Given the description of an element on the screen output the (x, y) to click on. 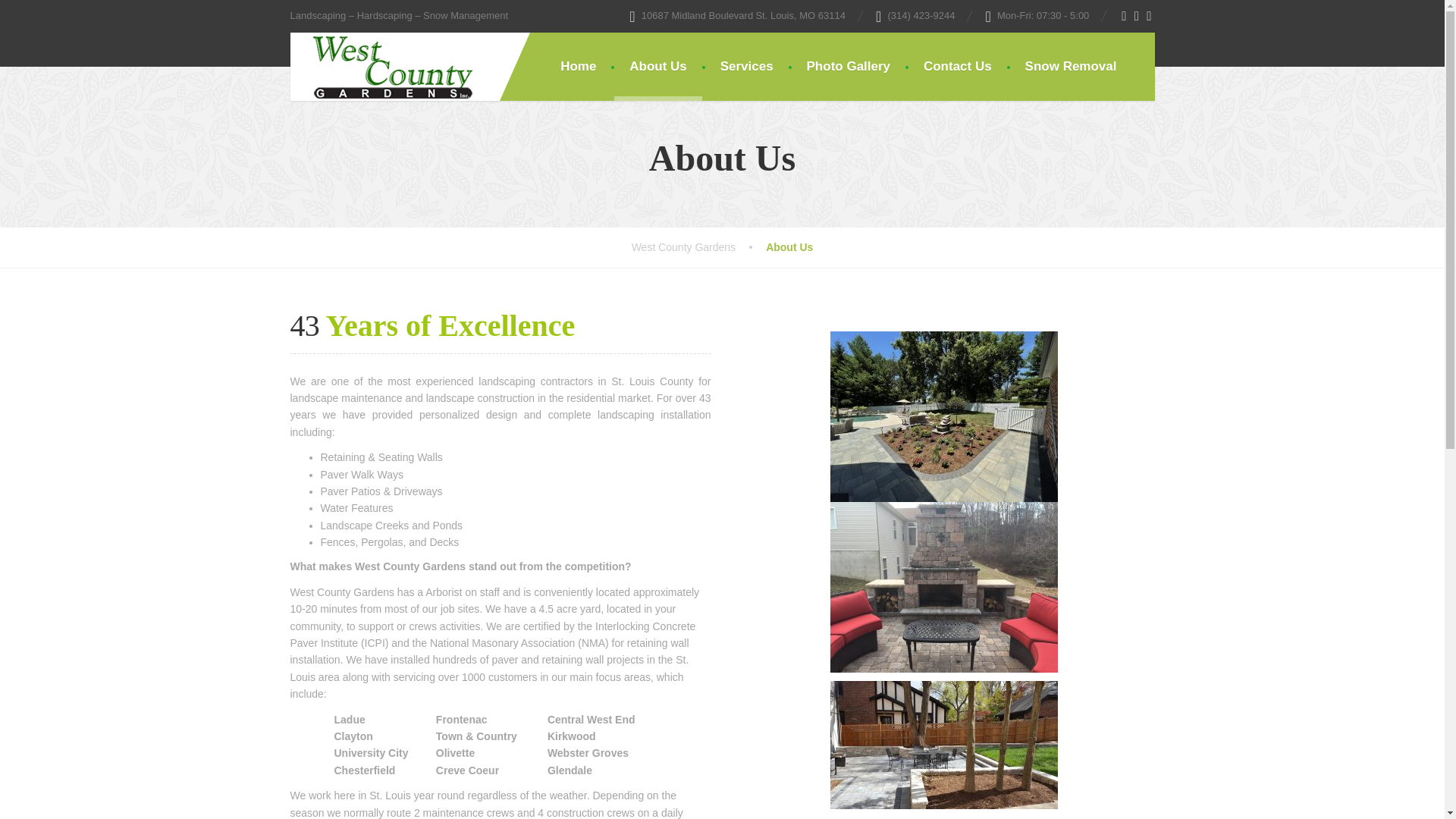
Services (746, 66)
Snow Removal (1071, 66)
Photo Gallery (848, 66)
Home (577, 66)
West County Gardens (698, 246)
West County Gardens (380, 65)
About Us (657, 66)
Contact Us (957, 66)
Go to West County Gardens. (698, 246)
